Given the description of an element on the screen output the (x, y) to click on. 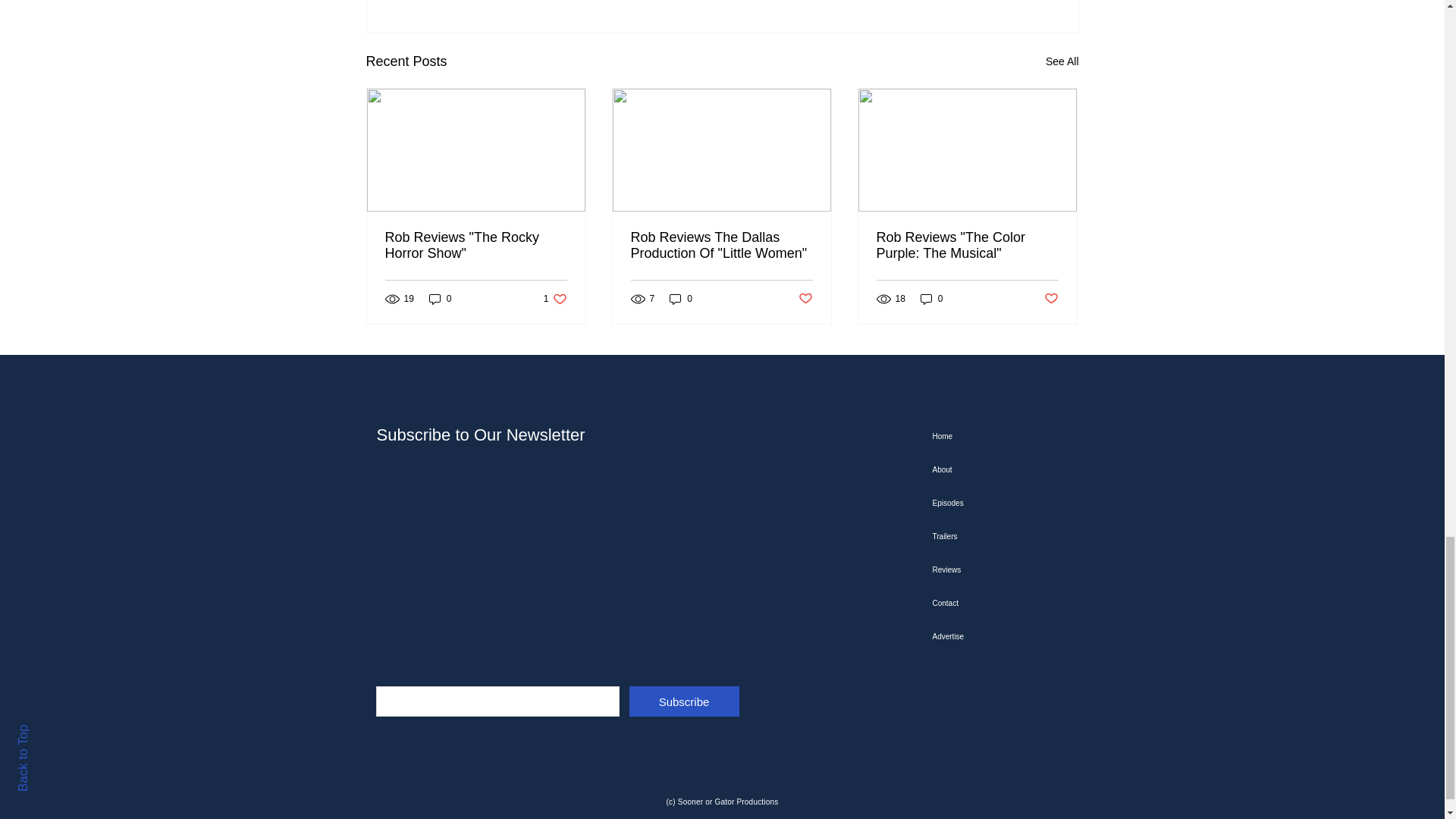
Rob Reviews "The Color Purple: The Musical" (967, 245)
0 (931, 298)
Post not marked as liked (804, 299)
0 (681, 298)
Rob Reviews "The Rocky Horror Show" (476, 245)
Post not marked as liked (1050, 299)
Rob Reviews The Dallas Production Of "Little Women" (721, 245)
See All (1061, 61)
0 (440, 298)
